Given the description of an element on the screen output the (x, y) to click on. 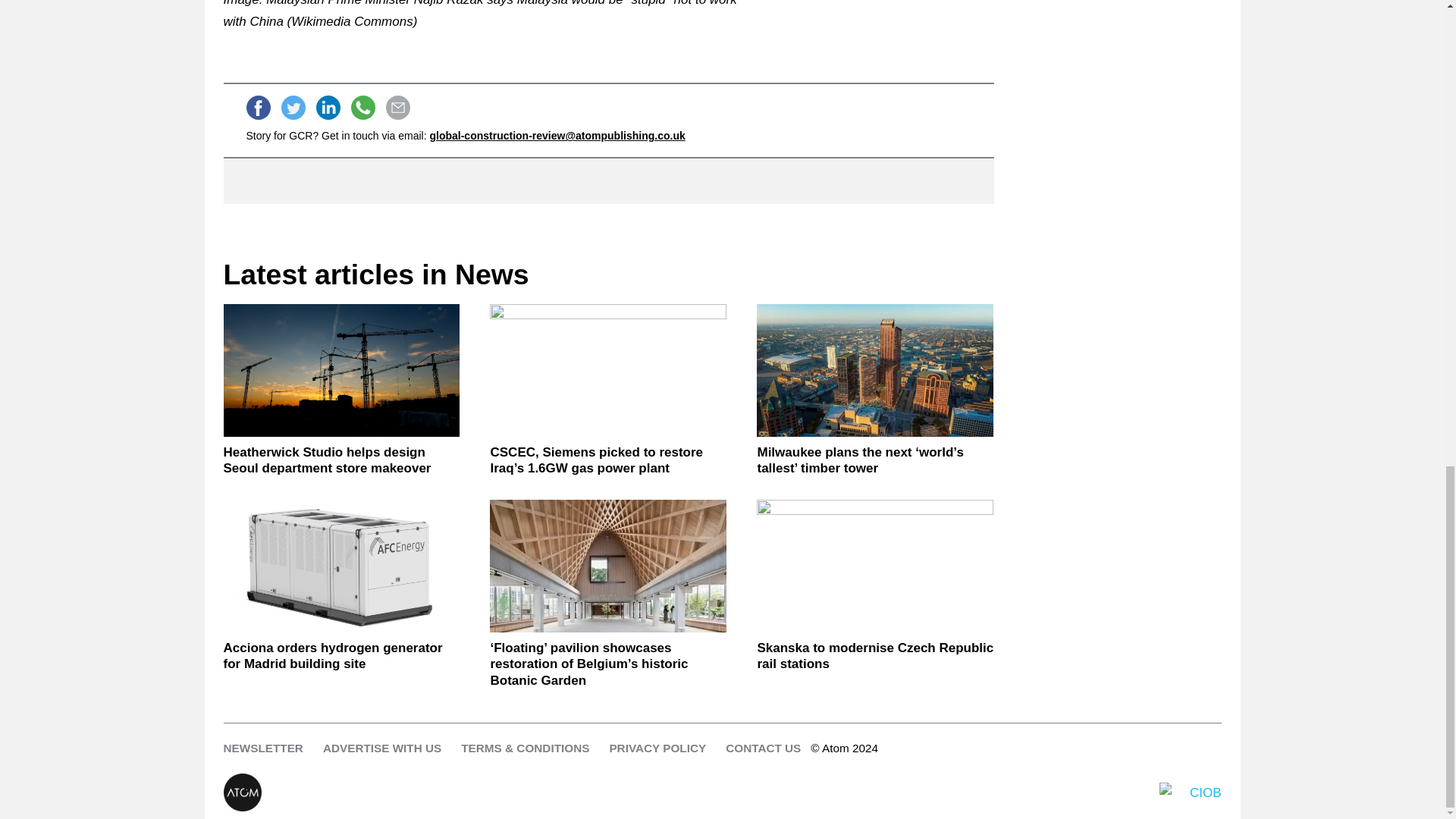
Tweet (292, 107)
Share on WhatsApp (362, 107)
Share on LinkedIn (327, 107)
Share on Facebook (257, 107)
Send email (397, 107)
